Given the description of an element on the screen output the (x, y) to click on. 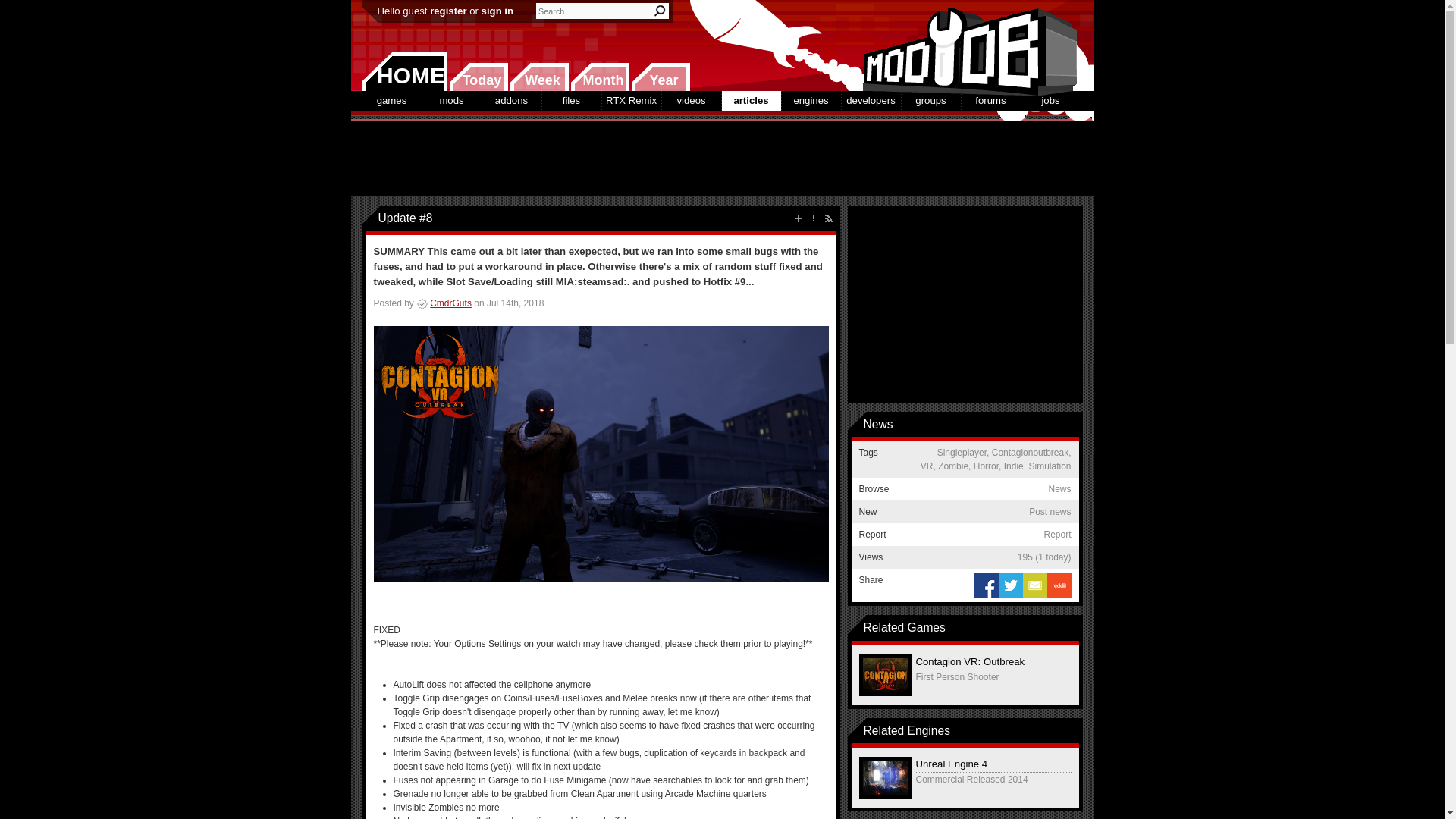
addons (511, 100)
New this month (599, 76)
Search (660, 10)
HOME (405, 71)
register (447, 10)
mods (451, 100)
Article Manager (443, 303)
Search ModDB (660, 10)
New this year (660, 76)
3rd party ad content (721, 158)
New this week (539, 76)
Post news (797, 218)
RSS (828, 218)
Month (599, 76)
Year (660, 76)
